Given the description of an element on the screen output the (x, y) to click on. 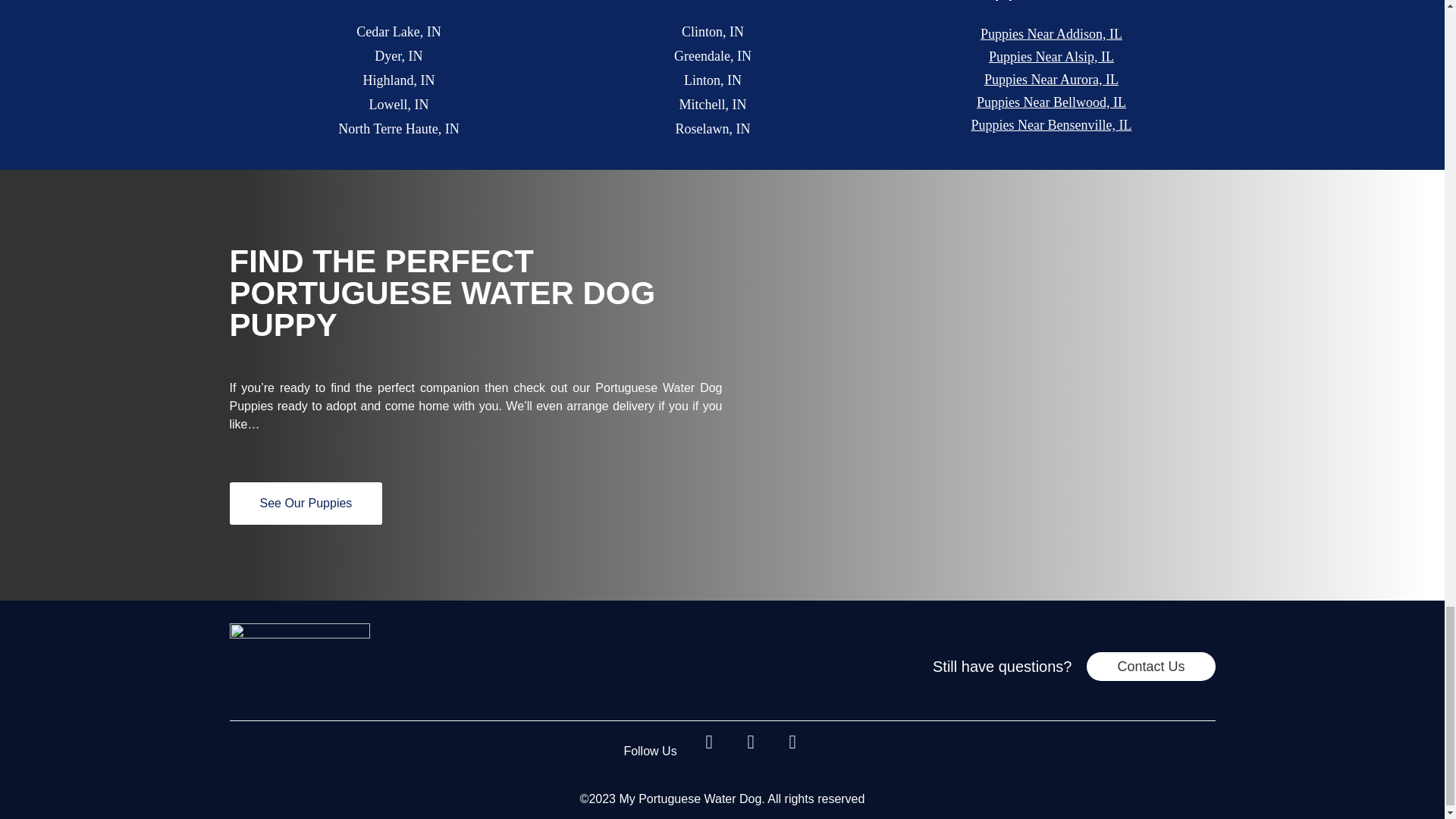
Puppies Near Addison, IL (1050, 34)
Puppies Near Bensenville, IL (1050, 125)
Puppies Near Alsip, IL (1050, 56)
Puppies Near Aurora, IL (1050, 79)
Puppies Near Bellwood, IL (1050, 102)
